Given the description of an element on the screen output the (x, y) to click on. 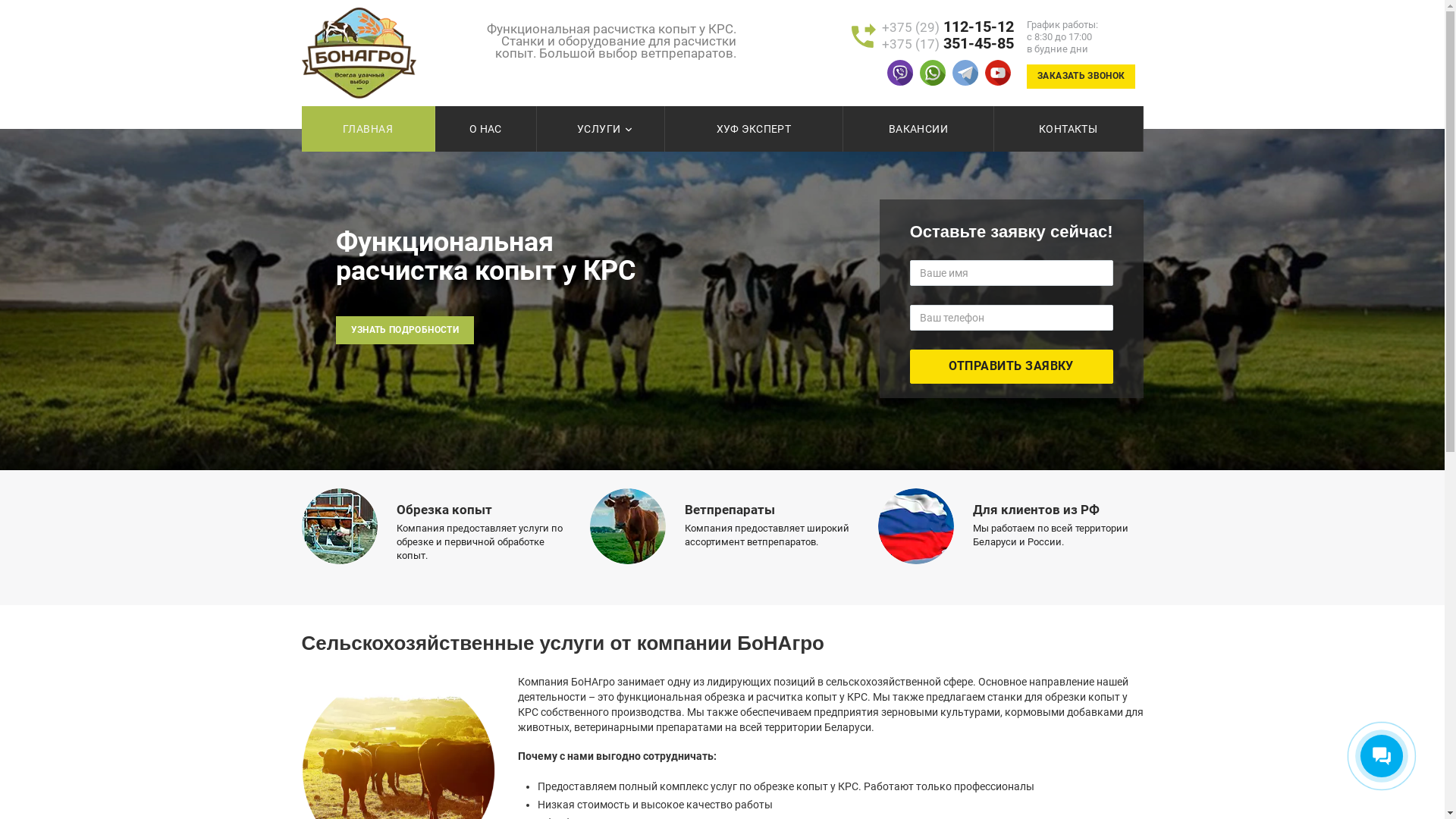
+375 (17) 351-45-85 Element type: text (947, 43)
+375 (29) 112-15-12 Element type: text (947, 26)
